Given the description of an element on the screen output the (x, y) to click on. 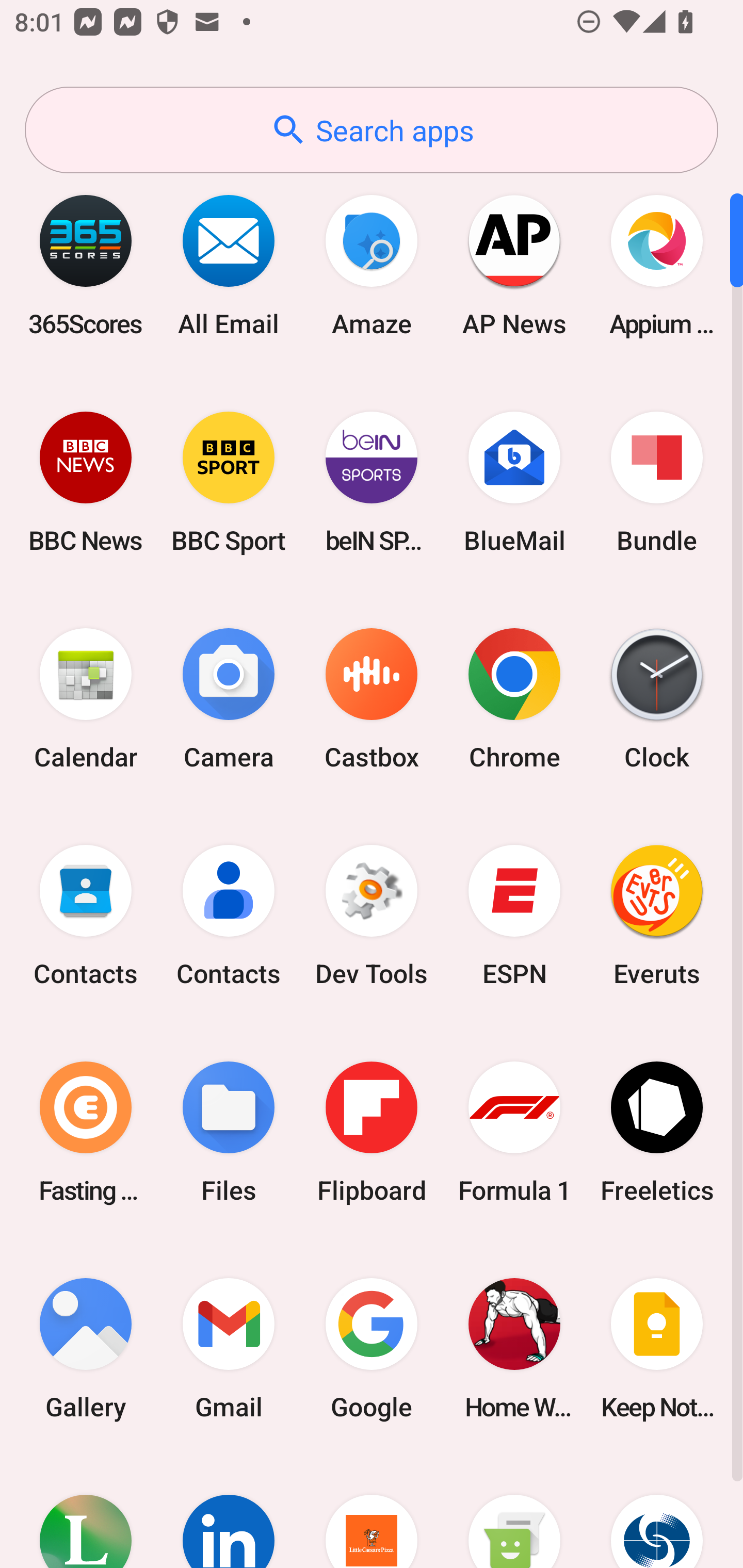
  Search apps (371, 130)
365Scores (85, 264)
All Email (228, 264)
Amaze (371, 264)
AP News (514, 264)
Appium Settings (656, 264)
BBC News (85, 482)
BBC Sport (228, 482)
beIN SPORTS (371, 482)
BlueMail (514, 482)
Bundle (656, 482)
Calendar (85, 699)
Camera (228, 699)
Castbox (371, 699)
Chrome (514, 699)
Clock (656, 699)
Contacts (85, 915)
Contacts (228, 915)
Dev Tools (371, 915)
ESPN (514, 915)
Everuts (656, 915)
Fasting Coach (85, 1131)
Files (228, 1131)
Flipboard (371, 1131)
Formula 1 (514, 1131)
Freeletics (656, 1131)
Gallery (85, 1348)
Gmail (228, 1348)
Google (371, 1348)
Home Workout (514, 1348)
Keep Notes (656, 1348)
